Given the description of an element on the screen output the (x, y) to click on. 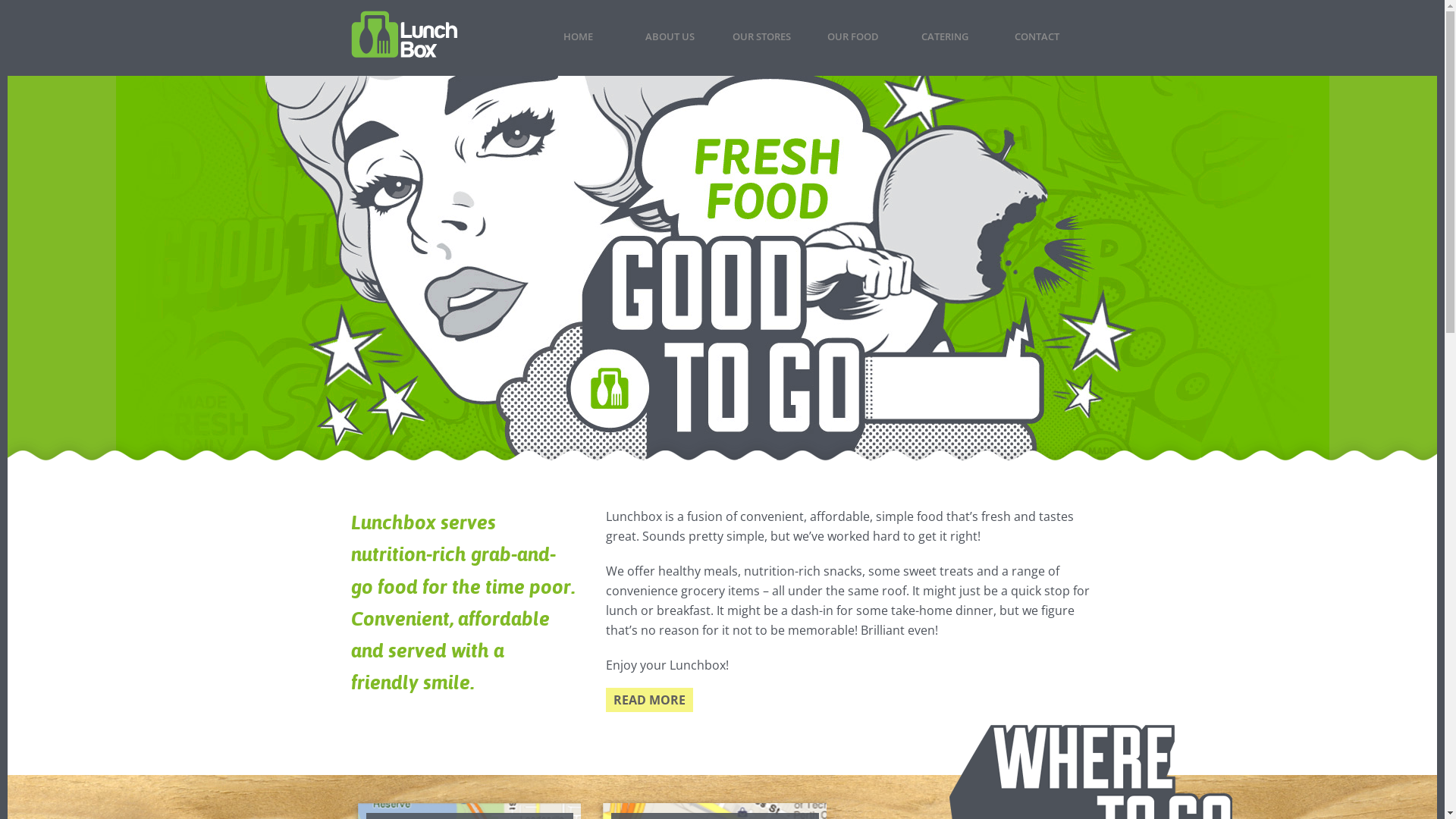
READ MORE Element type: text (649, 699)
SKIP TO SECONDARY CONTENT Element type: text (598, 17)
SKIP TO PRIMARY CONTENT Element type: text (588, 17)
ABOUT US Element type: text (669, 42)
CATERING Element type: text (945, 42)
OUR FOOD Element type: text (852, 42)
HOME Element type: text (578, 42)
OUR STORES Element type: text (761, 42)
CONTACT Element type: text (1036, 42)
